Given the description of an element on the screen output the (x, y) to click on. 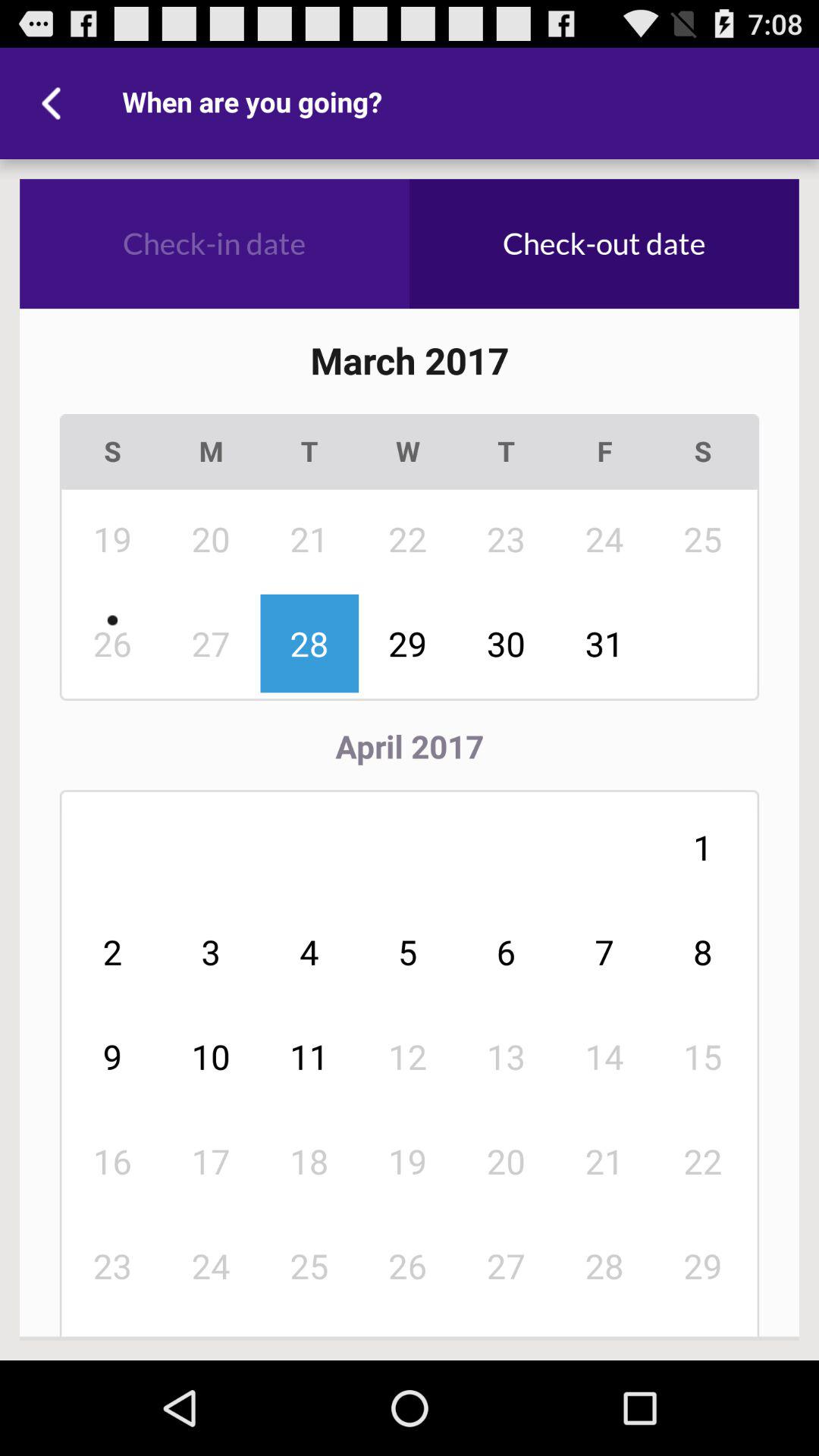
open the 12 (407, 1056)
